Given the description of an element on the screen output the (x, y) to click on. 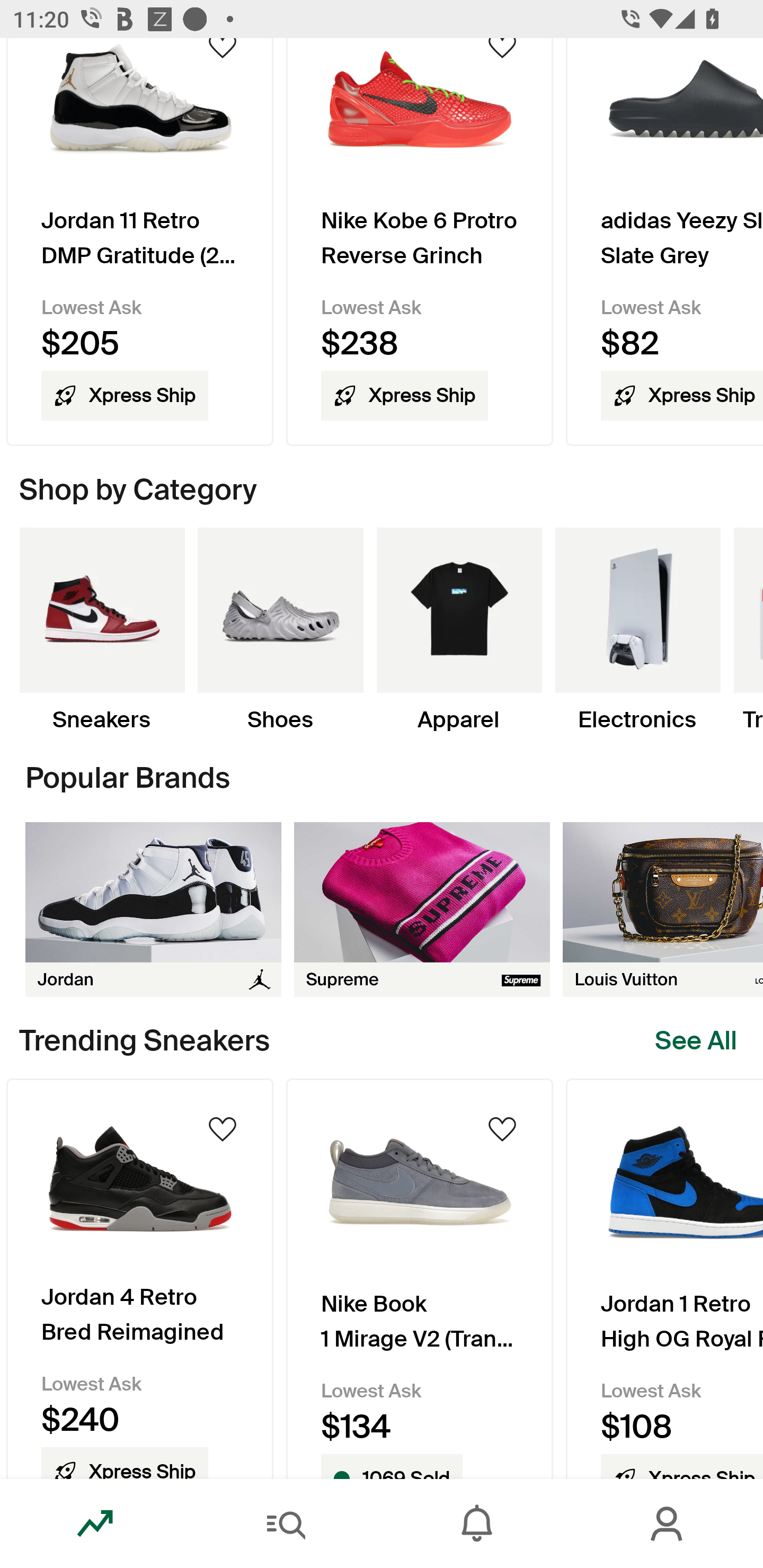
Product Image Sneakers (101, 629)
Product Image Shoes (280, 629)
Product Image Apparel (458, 629)
Product Image Electronics (637, 629)
jordan.jpg (153, 909)
supreme.jpg (421, 909)
lv.jpg (663, 909)
See All (695, 1039)
Search (285, 1523)
Inbox (476, 1523)
Account (667, 1523)
